Given the description of an element on the screen output the (x, y) to click on. 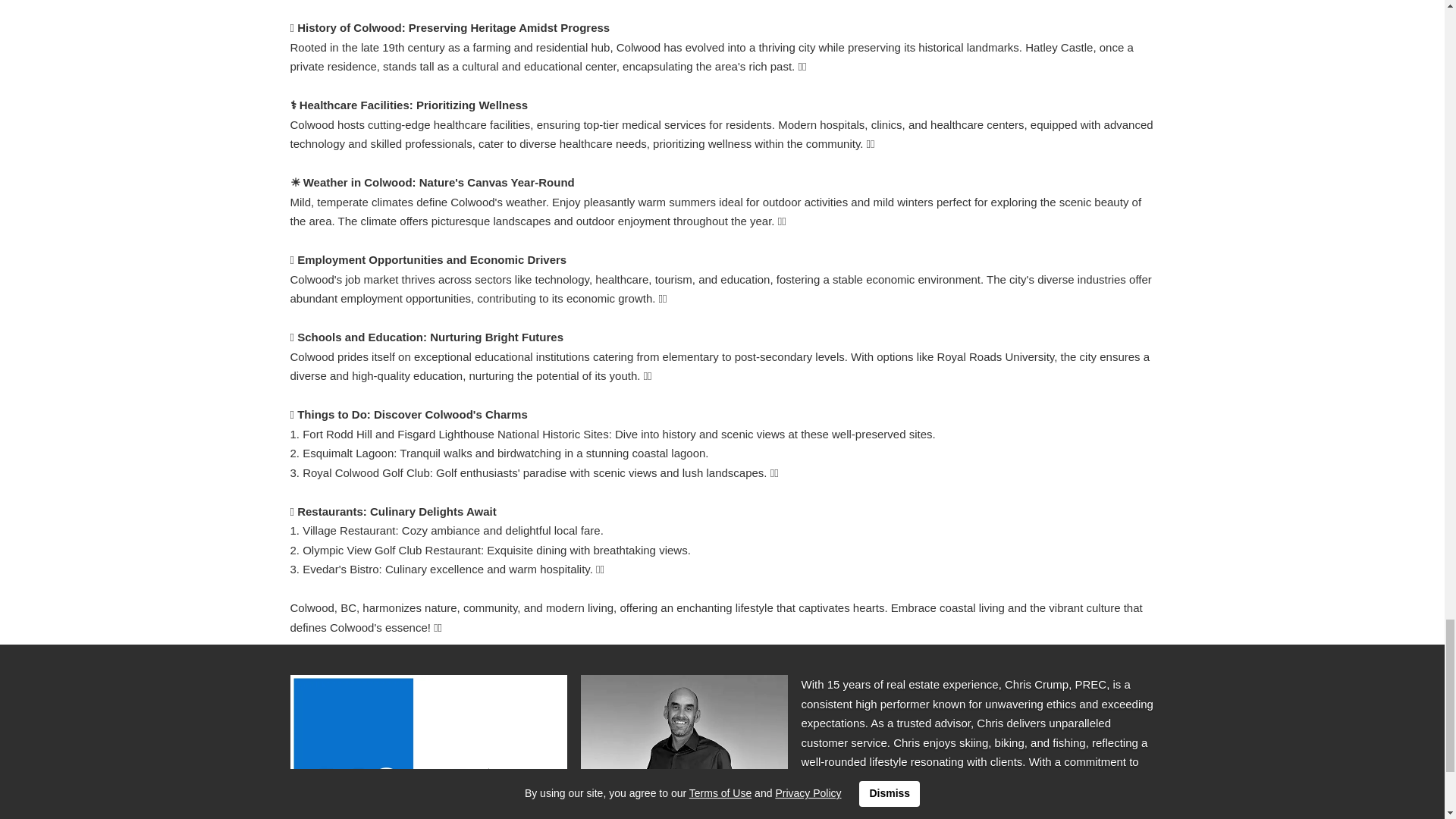
460 Realty (427, 746)
